Given the description of an element on the screen output the (x, y) to click on. 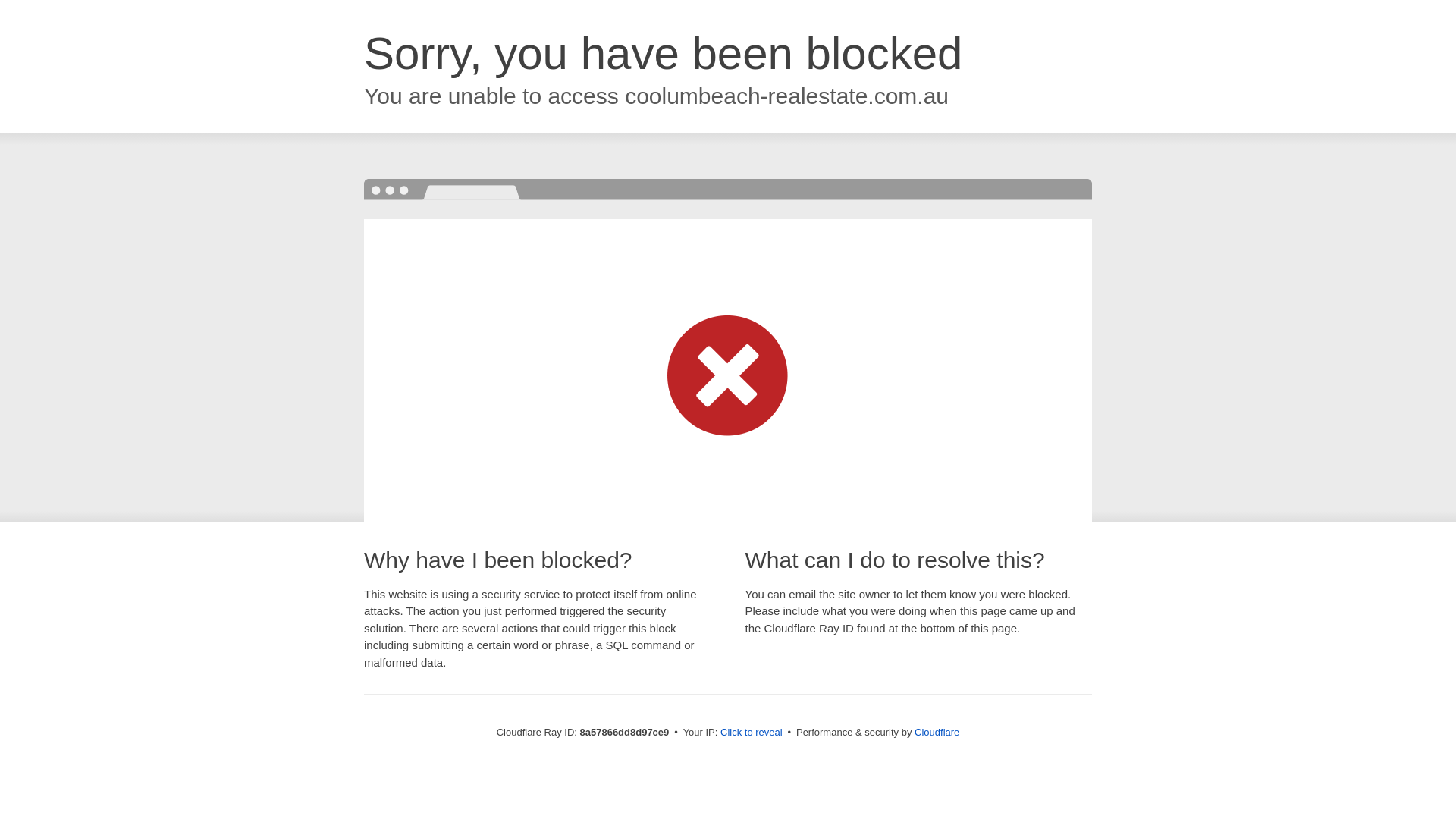
Cloudflare (936, 731)
Click to reveal (751, 732)
